Given the description of an element on the screen output the (x, y) to click on. 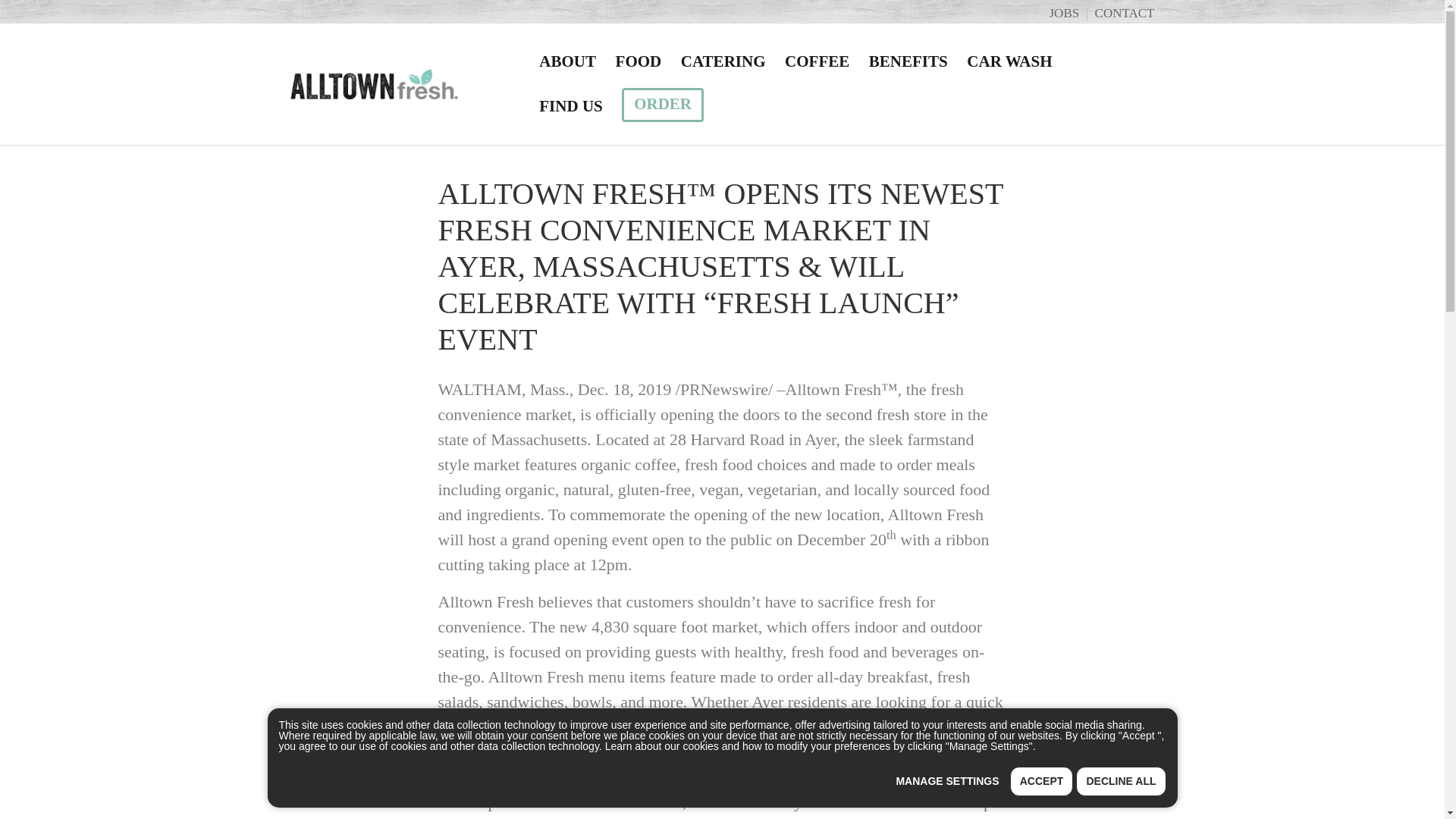
FOOD (638, 61)
CONTACT (1124, 12)
ABOUT (567, 61)
COFFEE (816, 61)
FIND US (570, 106)
CATERING (722, 61)
ORDER (662, 104)
BENEFITS (907, 61)
CAR WASH (1008, 61)
JOBS (1063, 12)
